Given the description of an element on the screen output the (x, y) to click on. 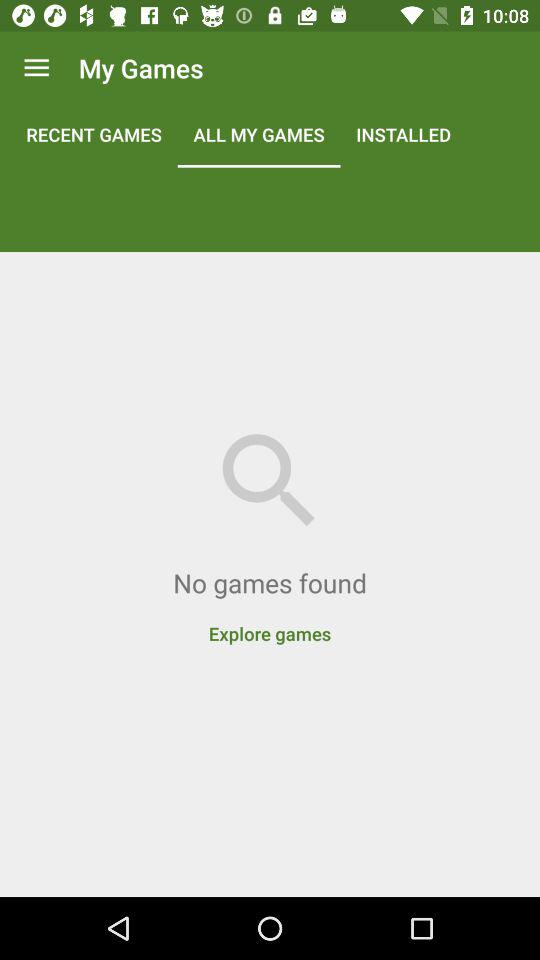
launch the icon next to my games (36, 68)
